Given the description of an element on the screen output the (x, y) to click on. 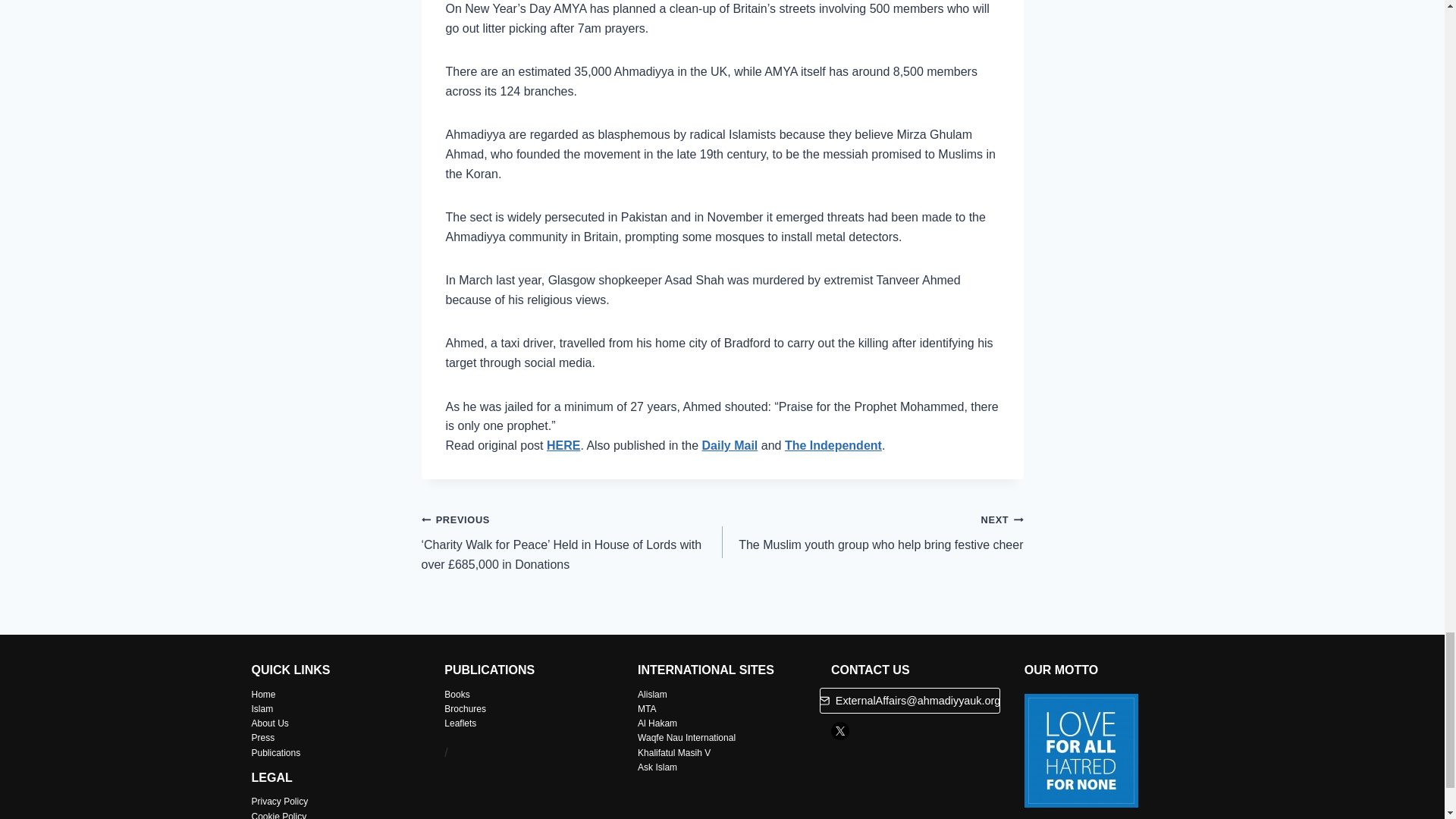
Khalifatul Masih V (673, 752)
HERE (563, 445)
Leaflets (460, 723)
Press (263, 737)
Ask Islam (657, 767)
About Us (269, 723)
Cookie Policy (279, 815)
Privacy Policy (279, 801)
Al Hakam (657, 723)
Publications (276, 752)
Waqfe Nau International (686, 737)
Daily Mail (872, 531)
Brochures (729, 445)
Home (465, 708)
